Given the description of an element on the screen output the (x, y) to click on. 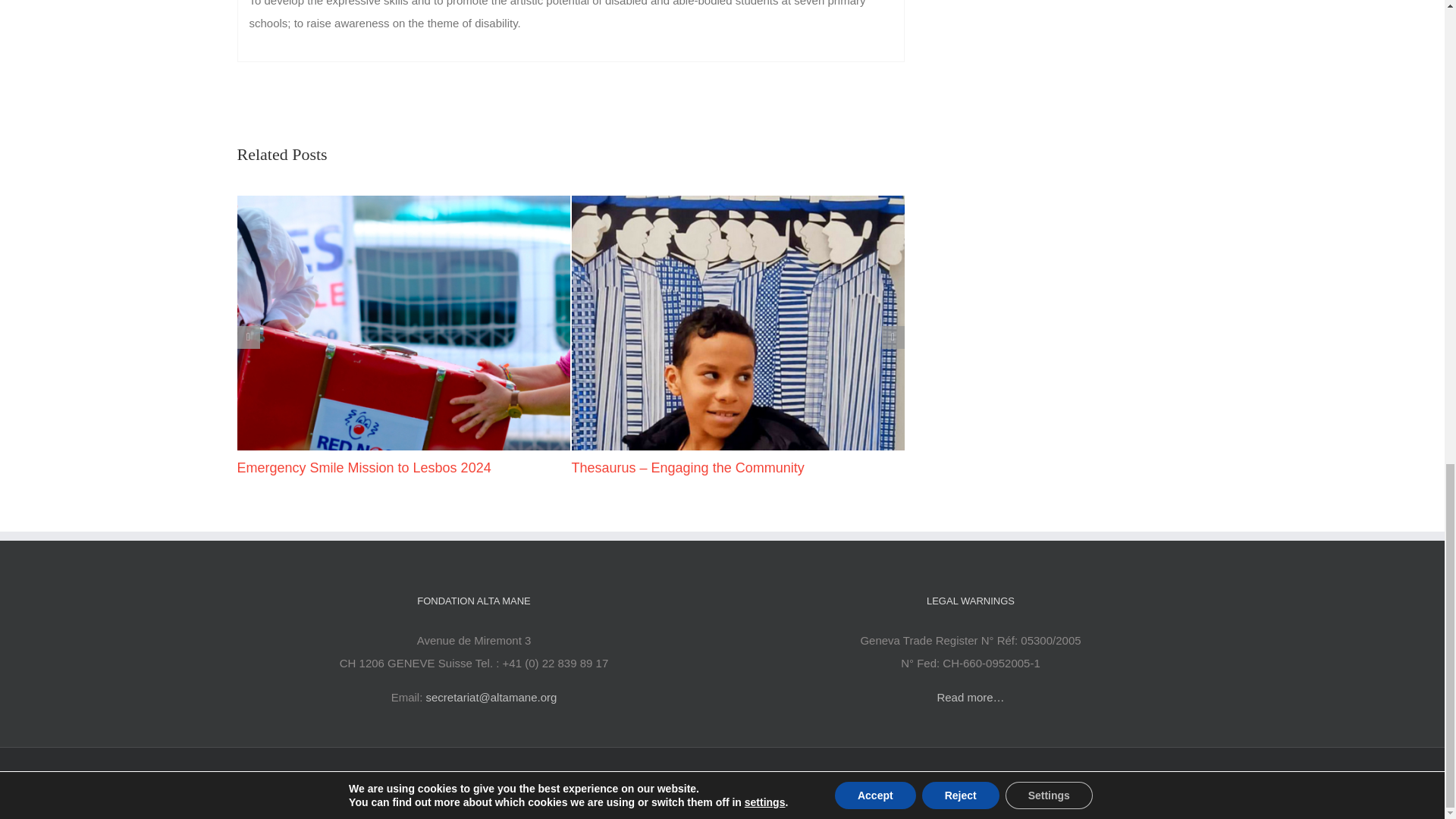
Emergency Smile Mission to Lesbos 2024 (362, 467)
